Given the description of an element on the screen output the (x, y) to click on. 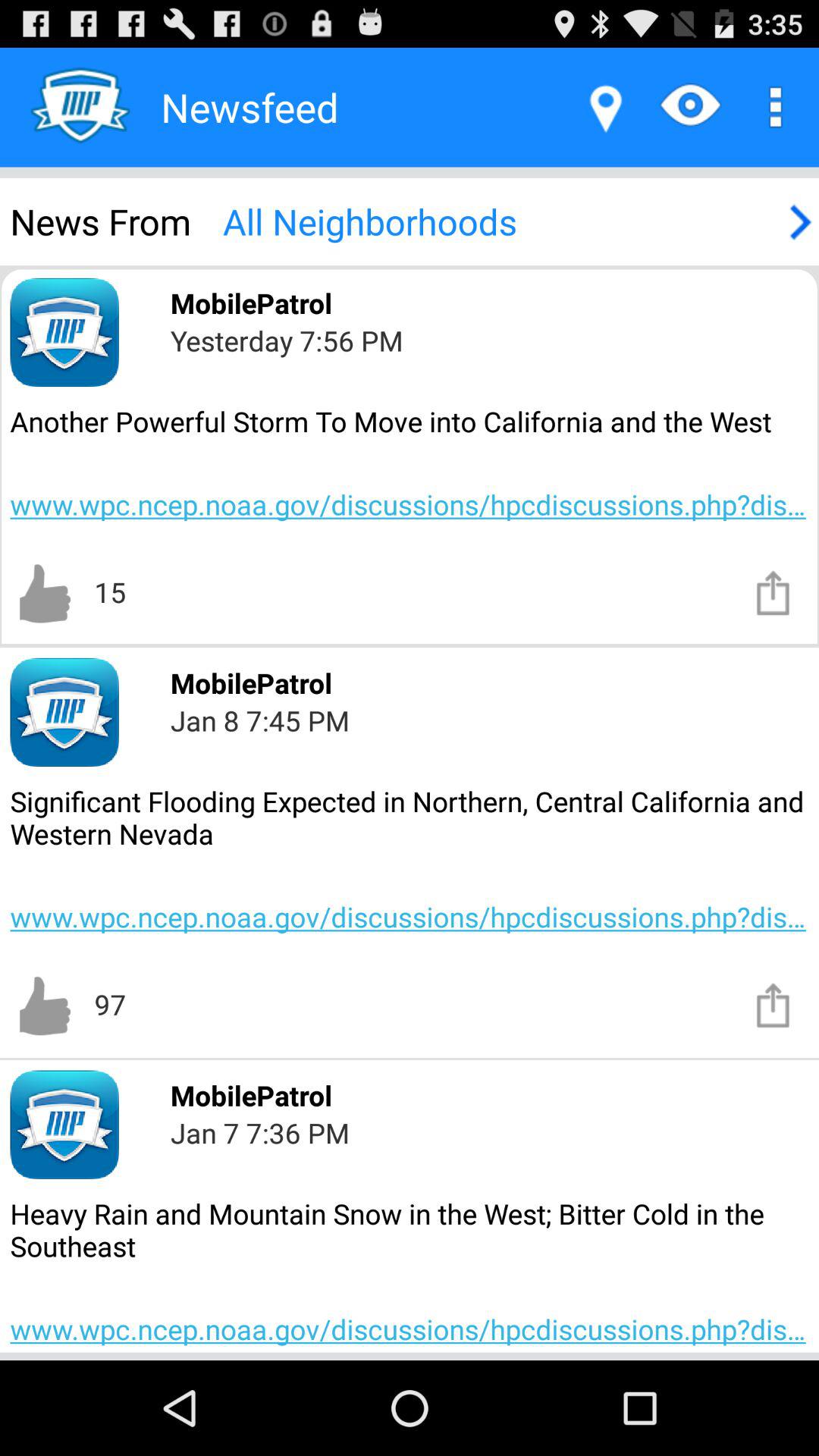
share (774, 592)
